Given the description of an element on the screen output the (x, y) to click on. 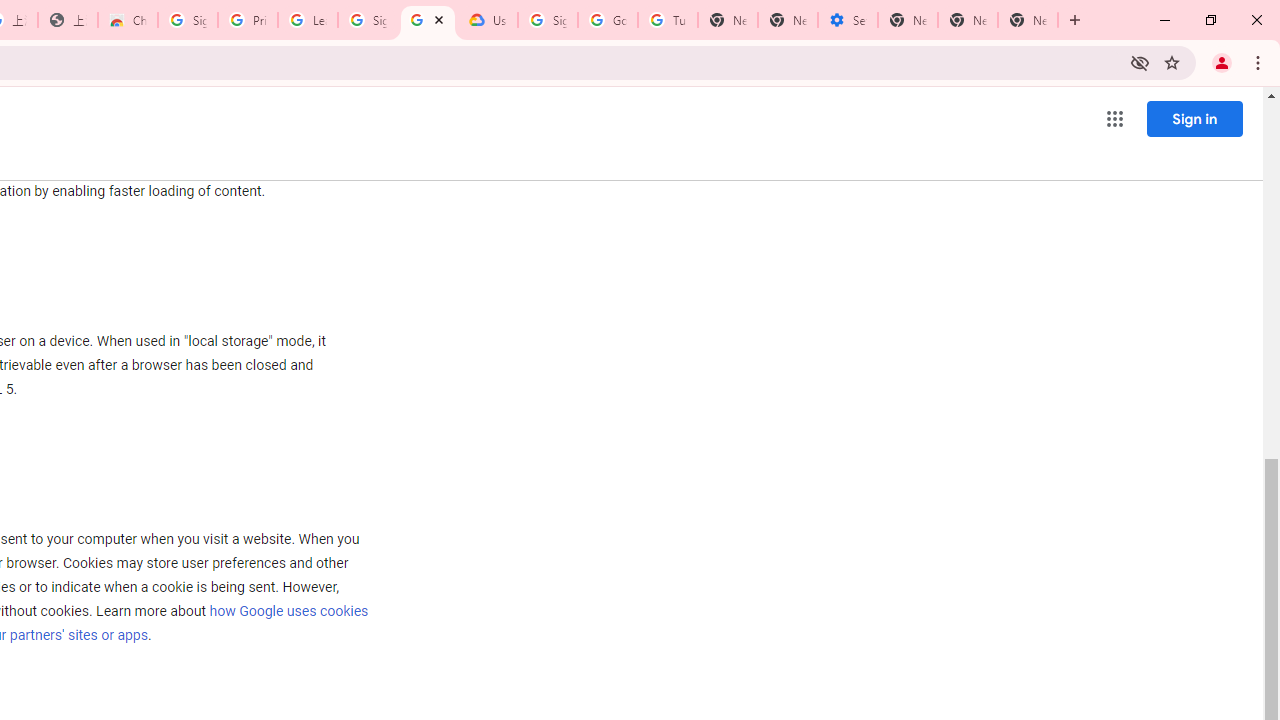
Turn cookies on or off - Computer - Google Account Help (667, 20)
Chrome Web Store - Color themes by Chrome (127, 20)
Google Account Help (607, 20)
Sign in - Google Accounts (548, 20)
